Given the description of an element on the screen output the (x, y) to click on. 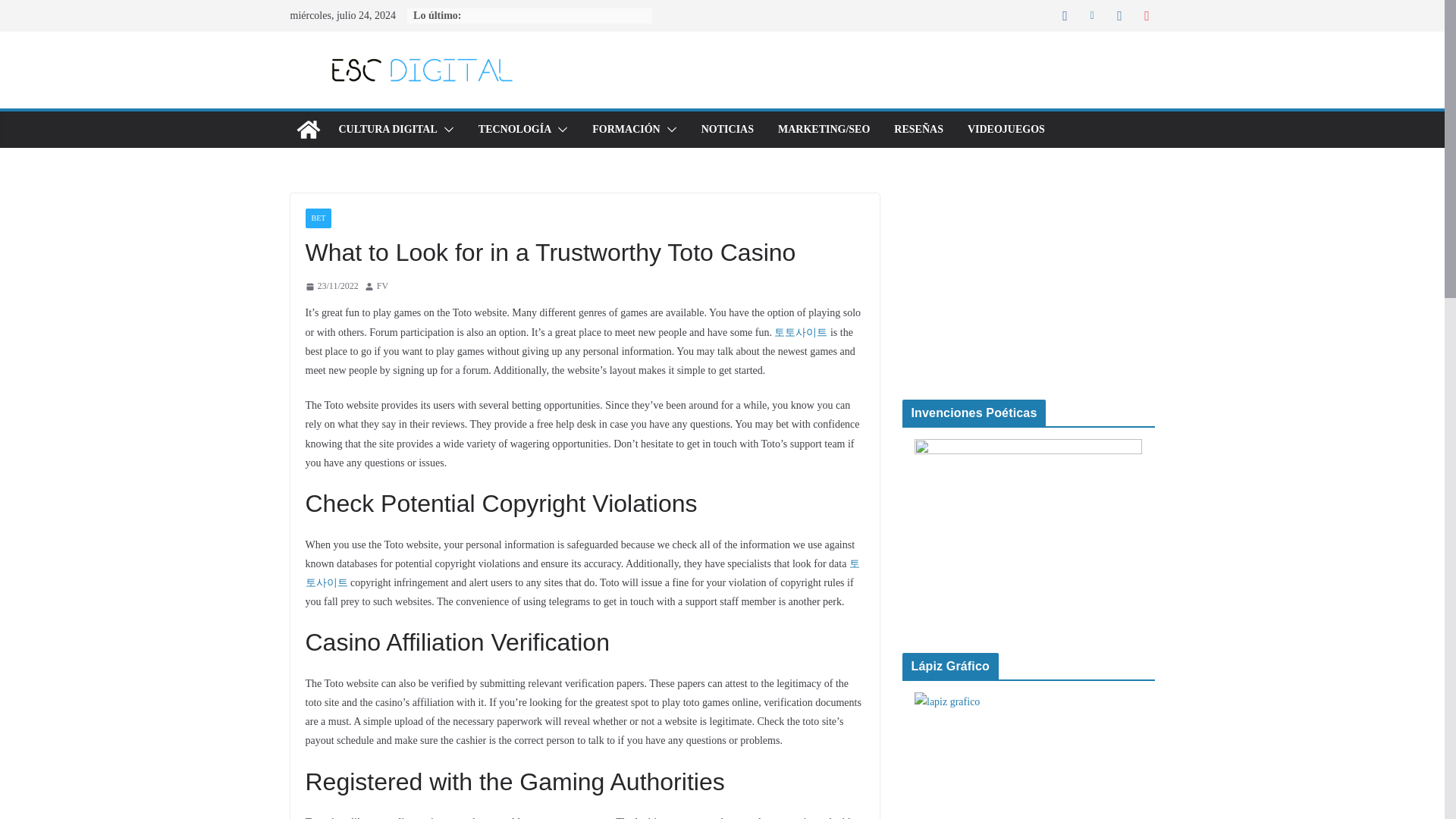
Escape Digital  (307, 129)
CULTURA DIGITAL (386, 129)
NOTICIAS (727, 129)
VIDEOJUEGOS (1006, 129)
1:04 PM (331, 286)
